Given the description of an element on the screen output the (x, y) to click on. 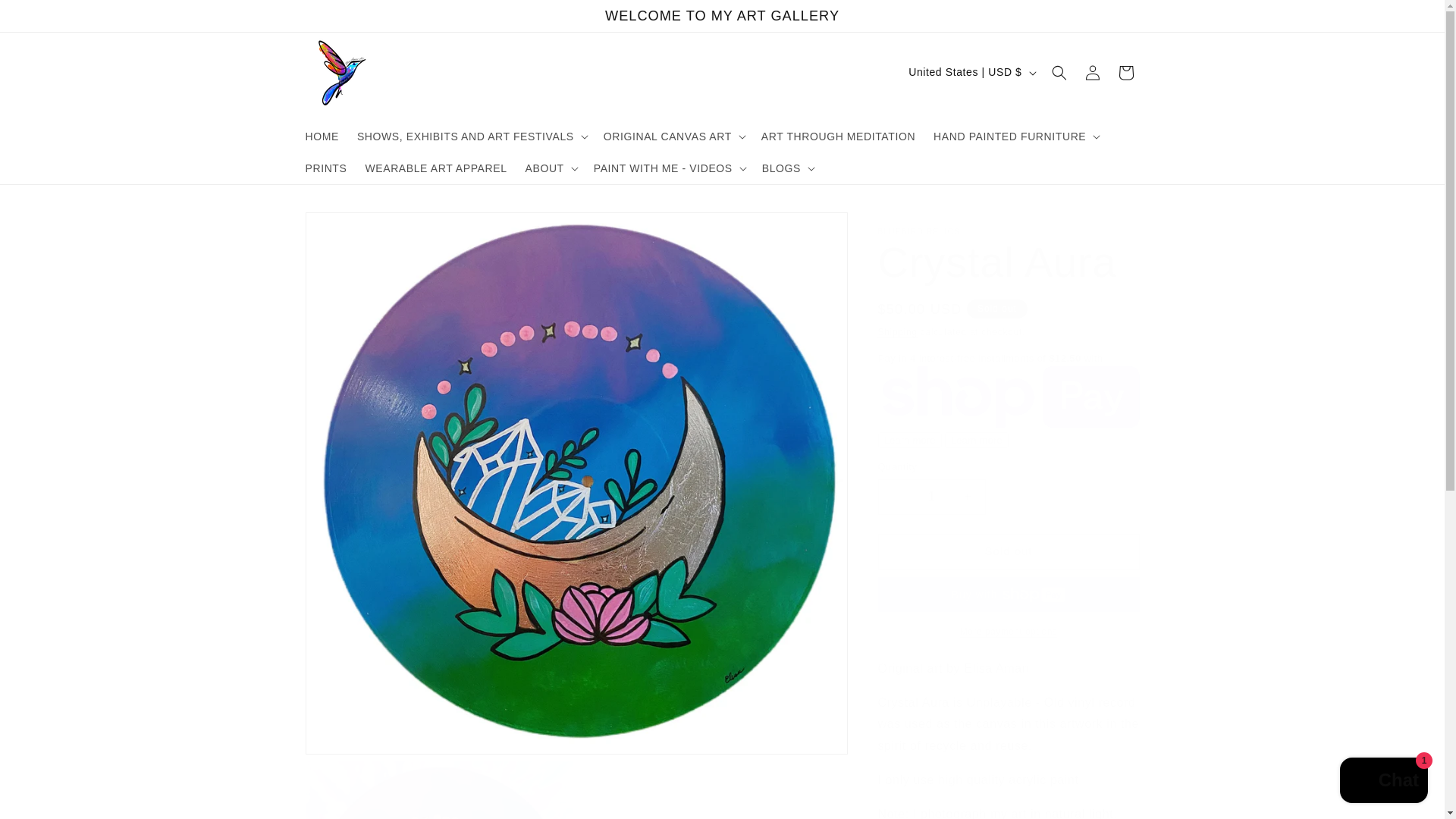
Shopify online store chat (1383, 781)
Skip to content (45, 17)
Open media 2 in modal (438, 789)
1 (931, 497)
